Given the description of an element on the screen output the (x, y) to click on. 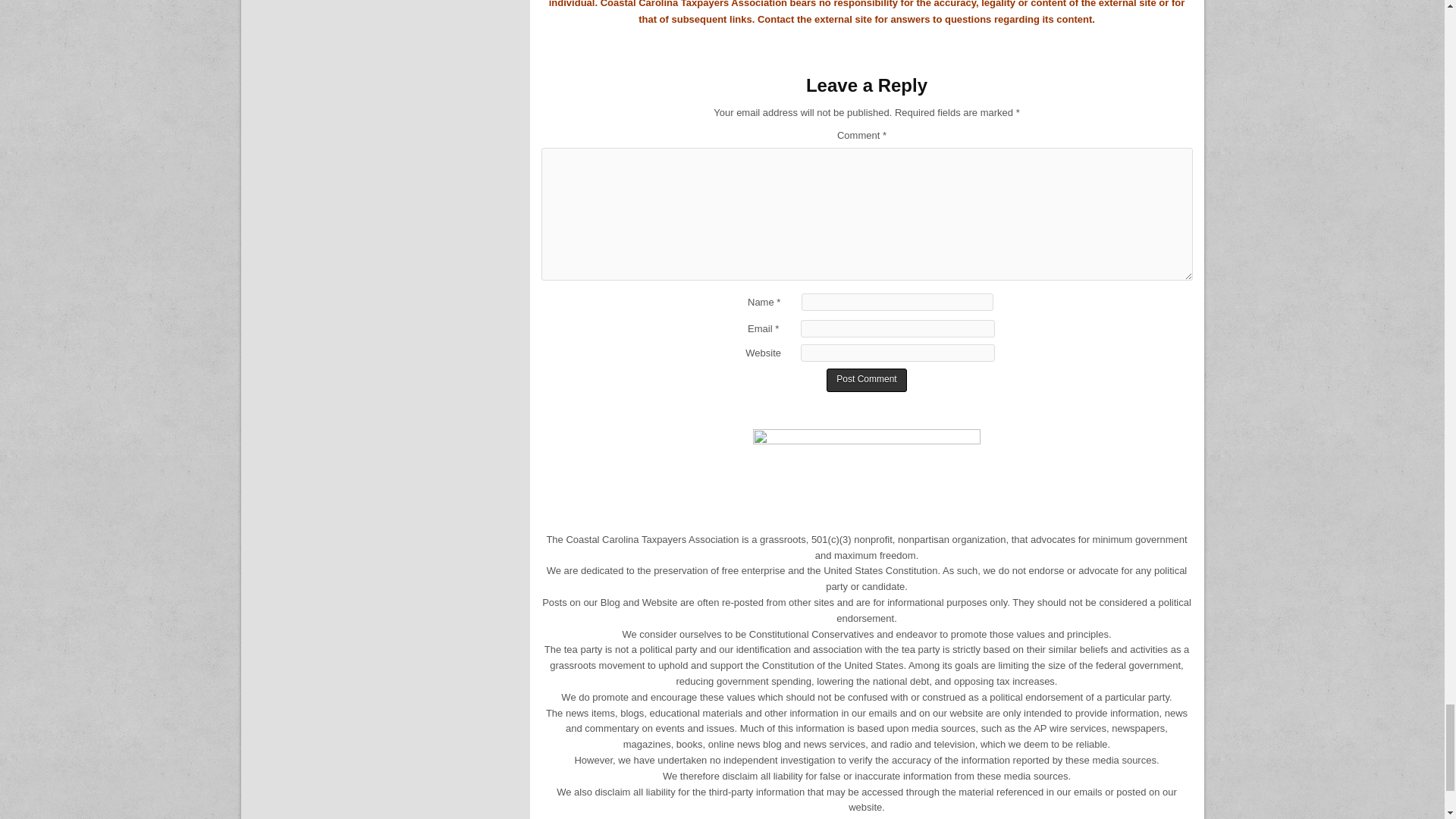
Post Comment (866, 380)
